Given the description of an element on the screen output the (x, y) to click on. 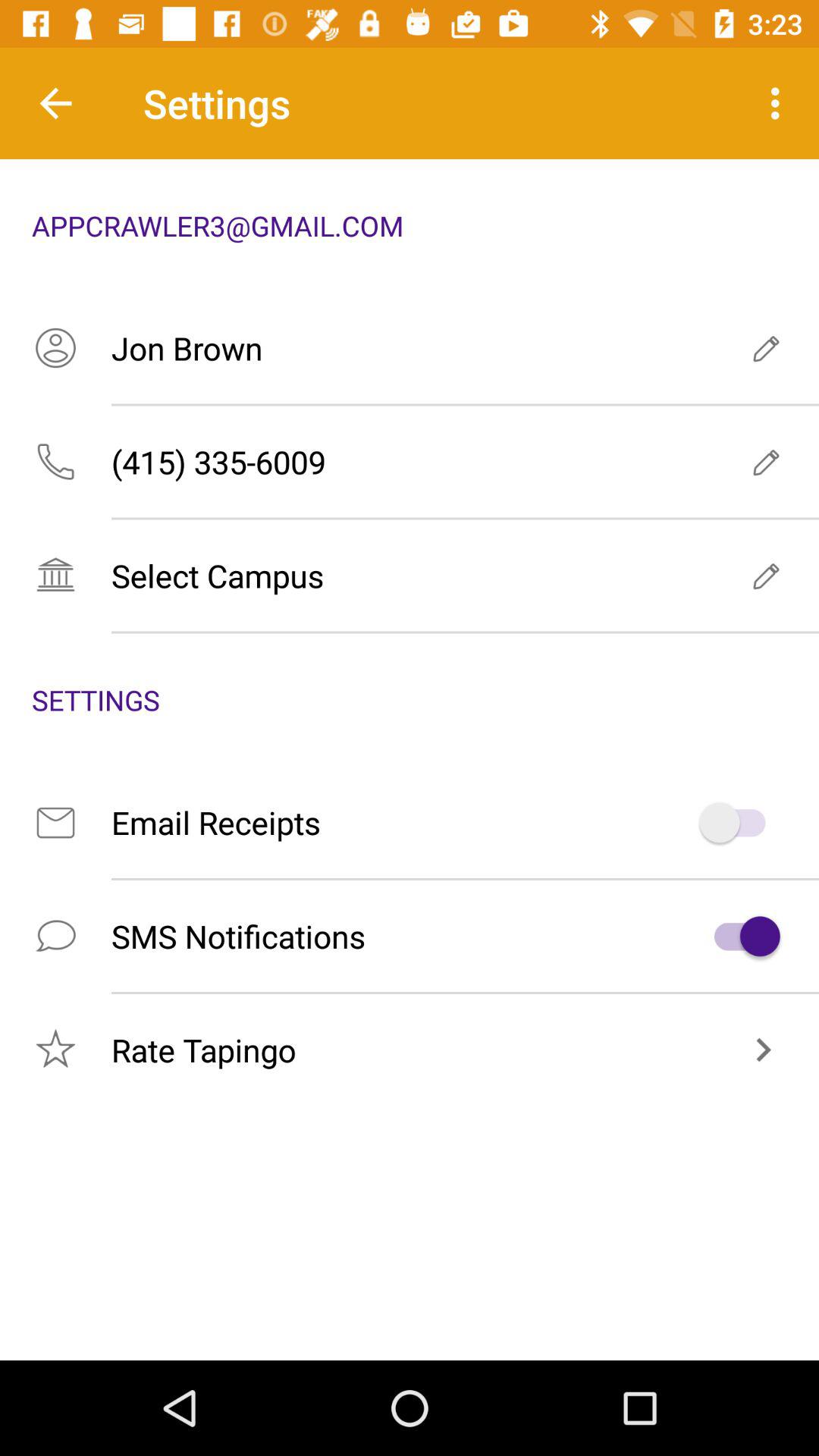
open the item next to settings icon (55, 103)
